Given the description of an element on the screen output the (x, y) to click on. 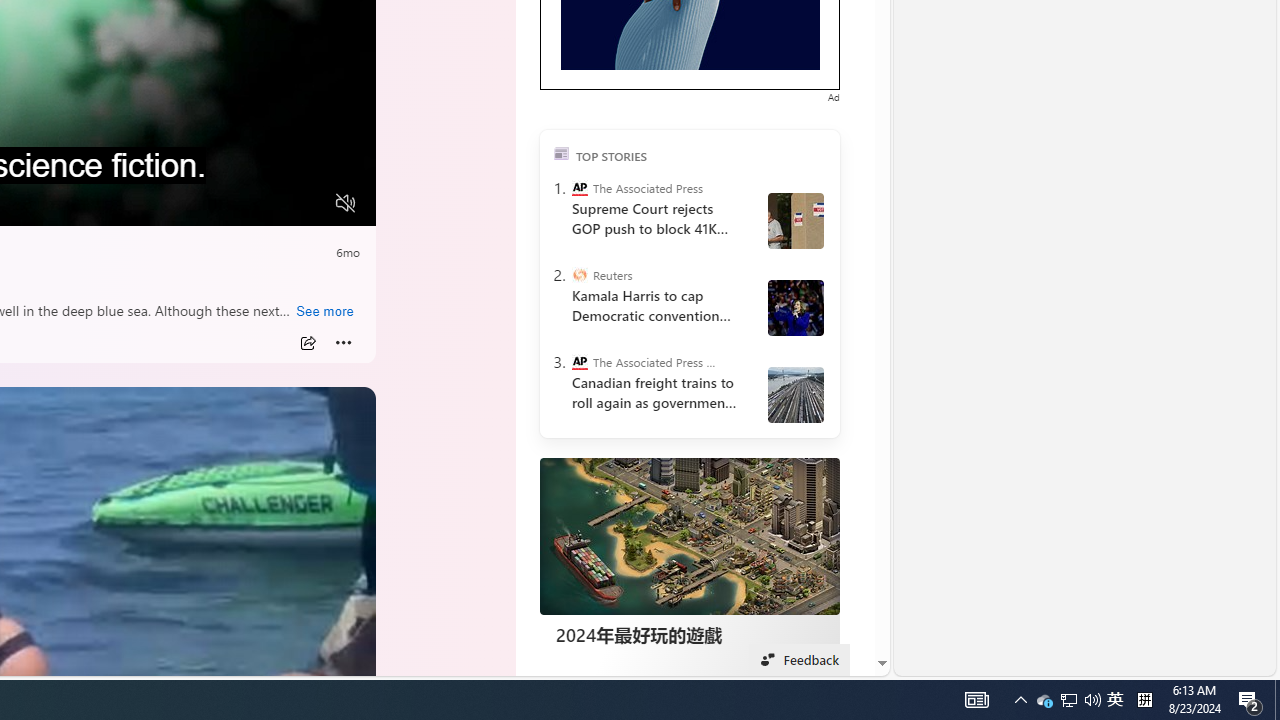
 Harris and Walz campaign in Wisconsin (796, 308)
The Associated Press - Business News (579, 362)
Reuters (579, 274)
Share (307, 343)
